Given the description of an element on the screen output the (x, y) to click on. 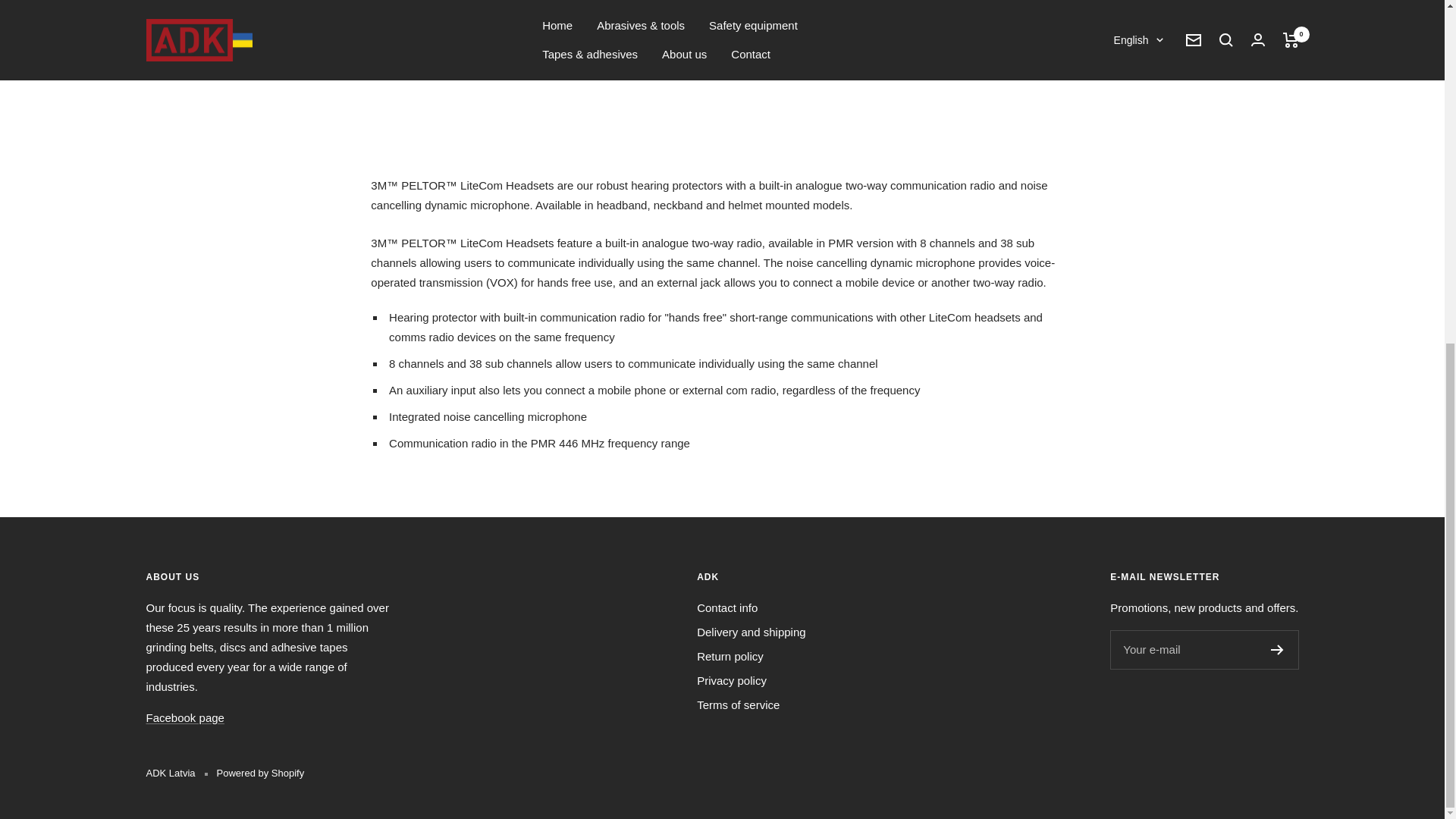
Register (1277, 649)
Zoom (648, 2)
